Given the description of an element on the screen output the (x, y) to click on. 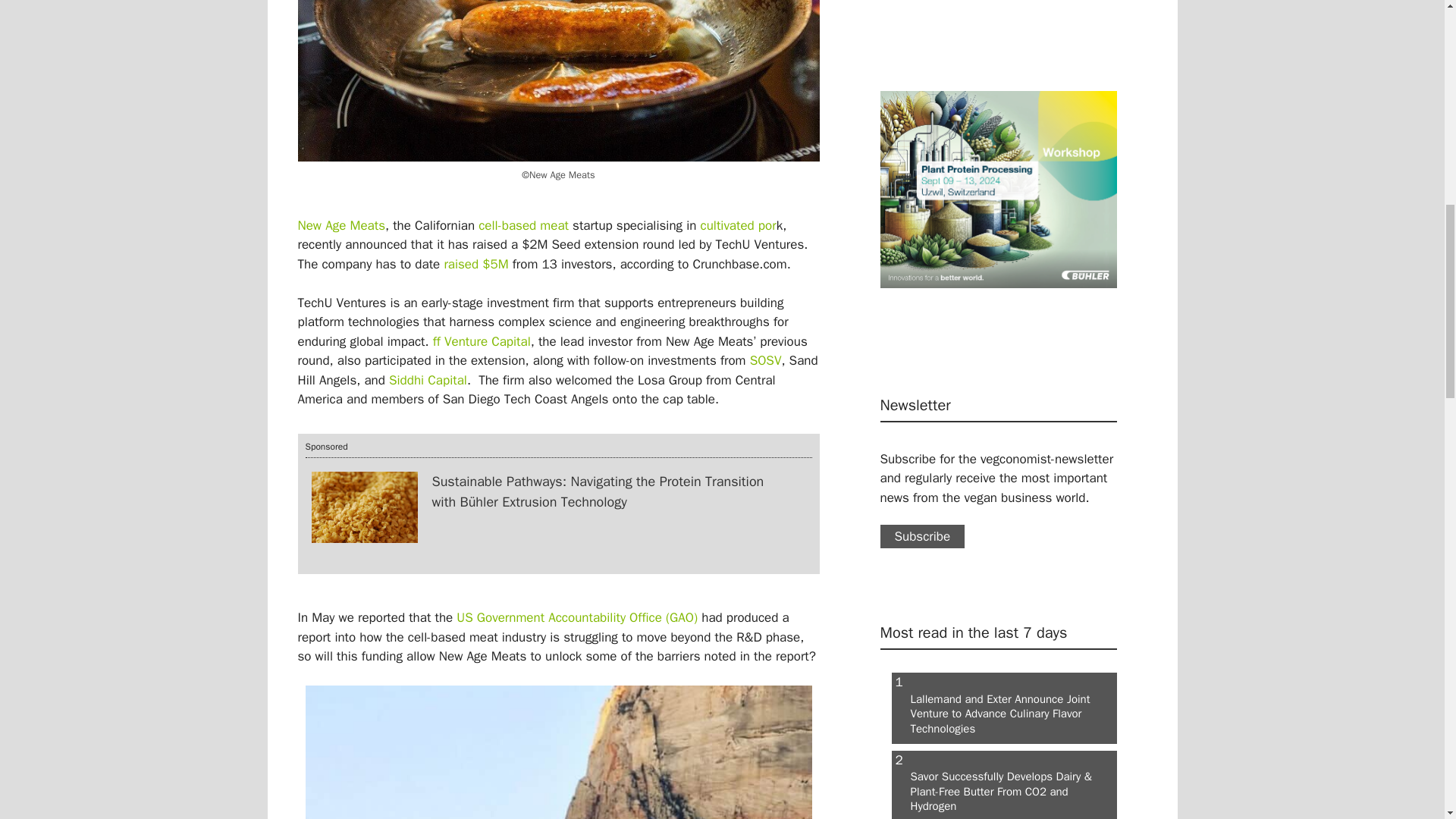
Scroll back to top (1406, 720)
